Given the description of an element on the screen output the (x, y) to click on. 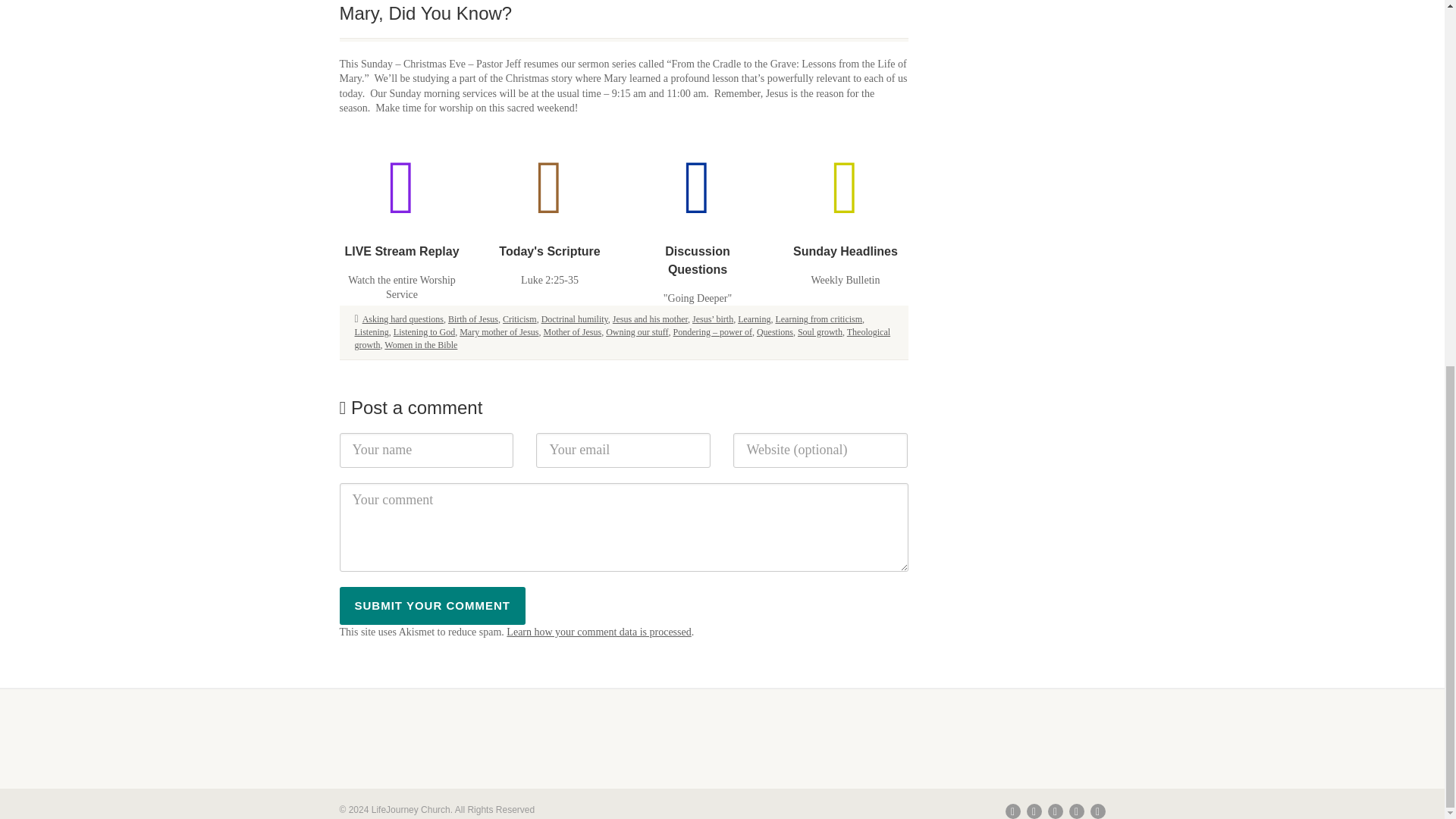
Doctrinal humility (574, 318)
Mary mother of Jesus (499, 331)
Sunday Headlines (845, 250)
Women in the Bible (420, 344)
Theological growth (623, 338)
Discussion Questions (697, 260)
Jesus and his mother (649, 318)
Asking hard questions (403, 318)
Listening to God (423, 331)
Criticism (519, 318)
Submit your comment (432, 605)
Birth of Jesus (472, 318)
Learning from criticism (817, 318)
LIVE Stream Replay (400, 250)
Today's Scripture (549, 250)
